Given the description of an element on the screen output the (x, y) to click on. 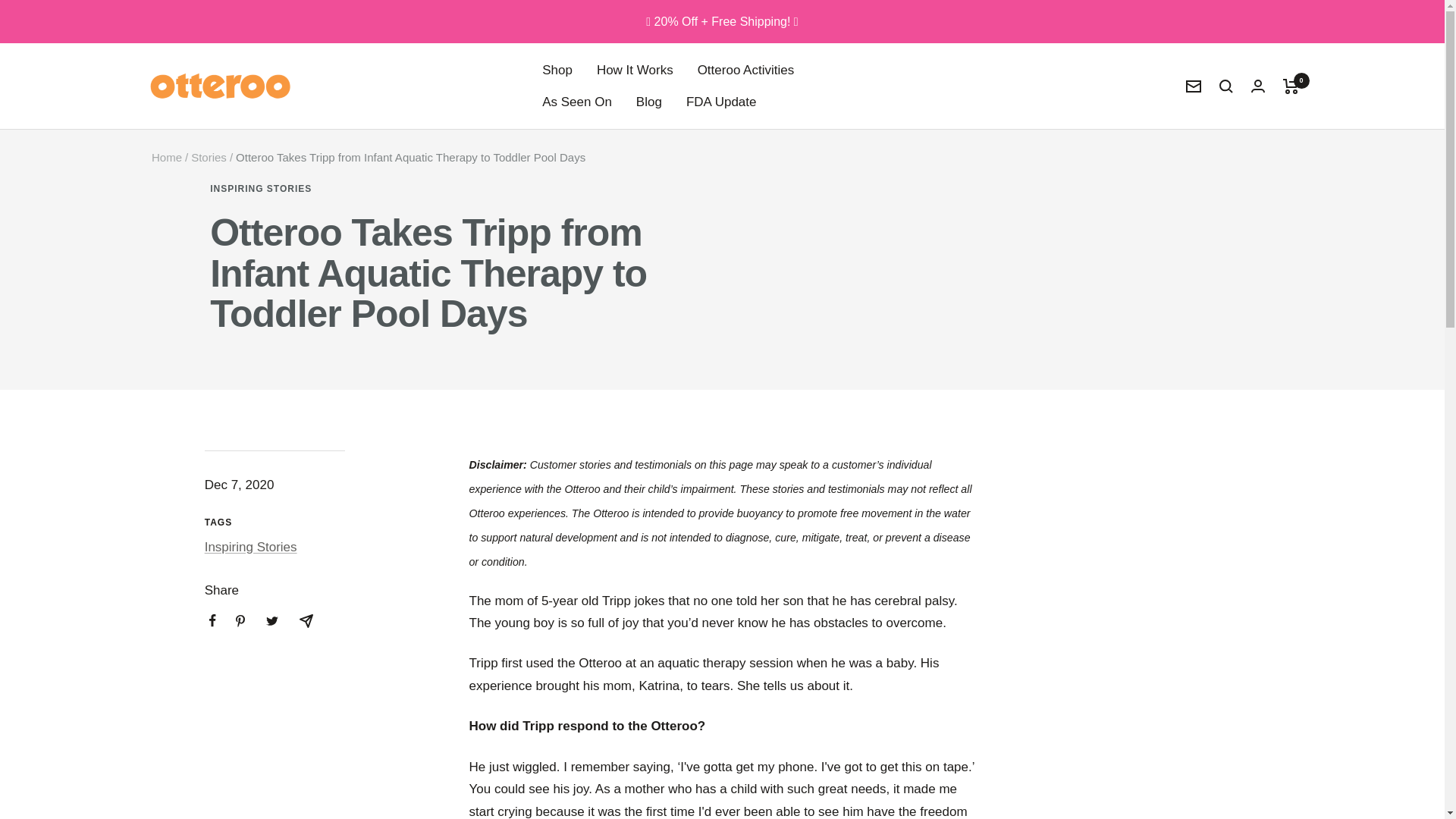
FDA Update (721, 101)
Stories (208, 156)
Newsletter (1193, 86)
Shop (556, 69)
Otteroo (219, 86)
How It Works (634, 69)
Inspiring Stories (251, 546)
As Seen On (576, 101)
0 (1290, 86)
Otteroo Activities (745, 69)
